Given the description of an element on the screen output the (x, y) to click on. 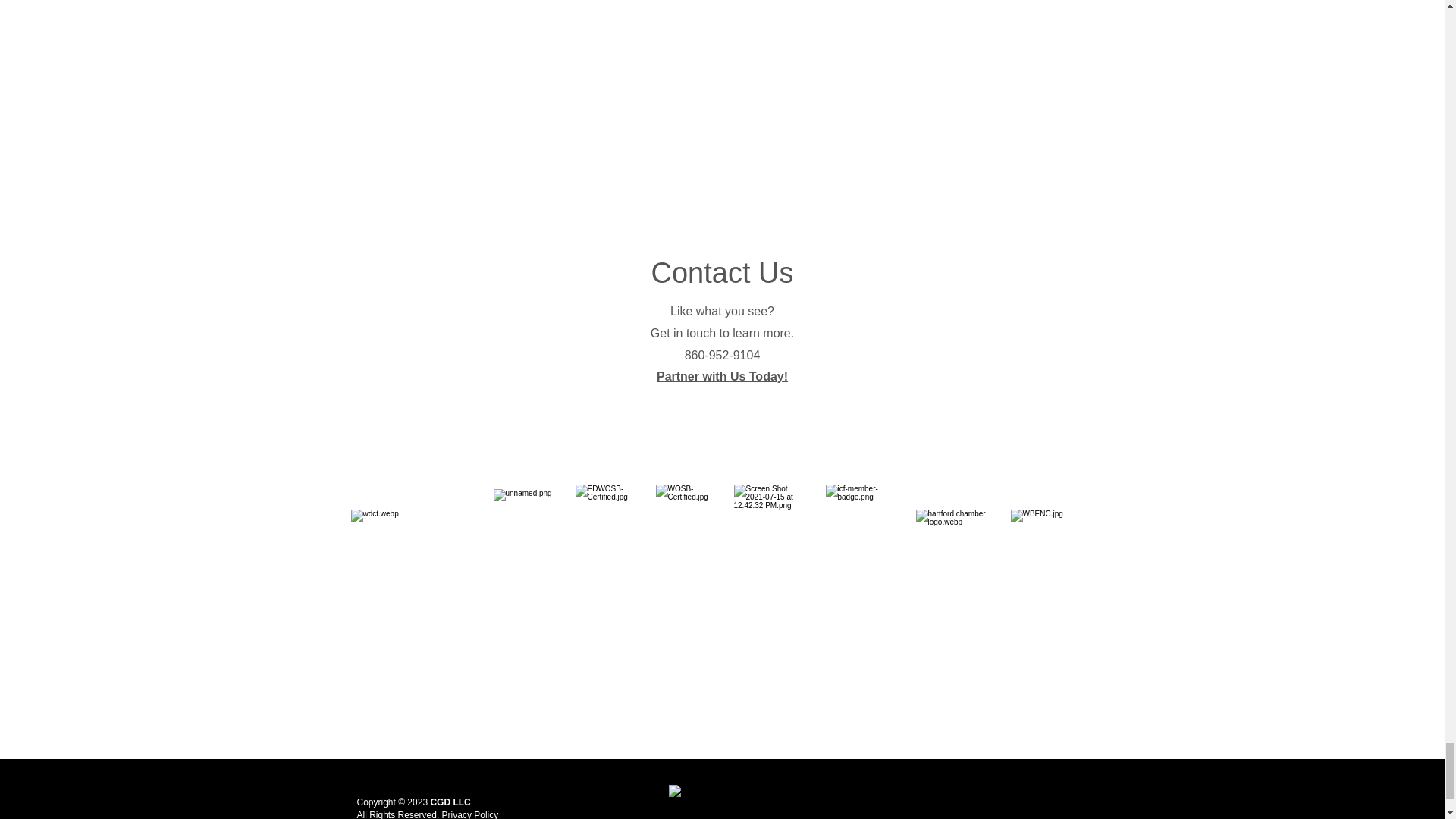
Partner with Us Today! (721, 376)
Privacy Policy (470, 814)
